Given the description of an element on the screen output the (x, y) to click on. 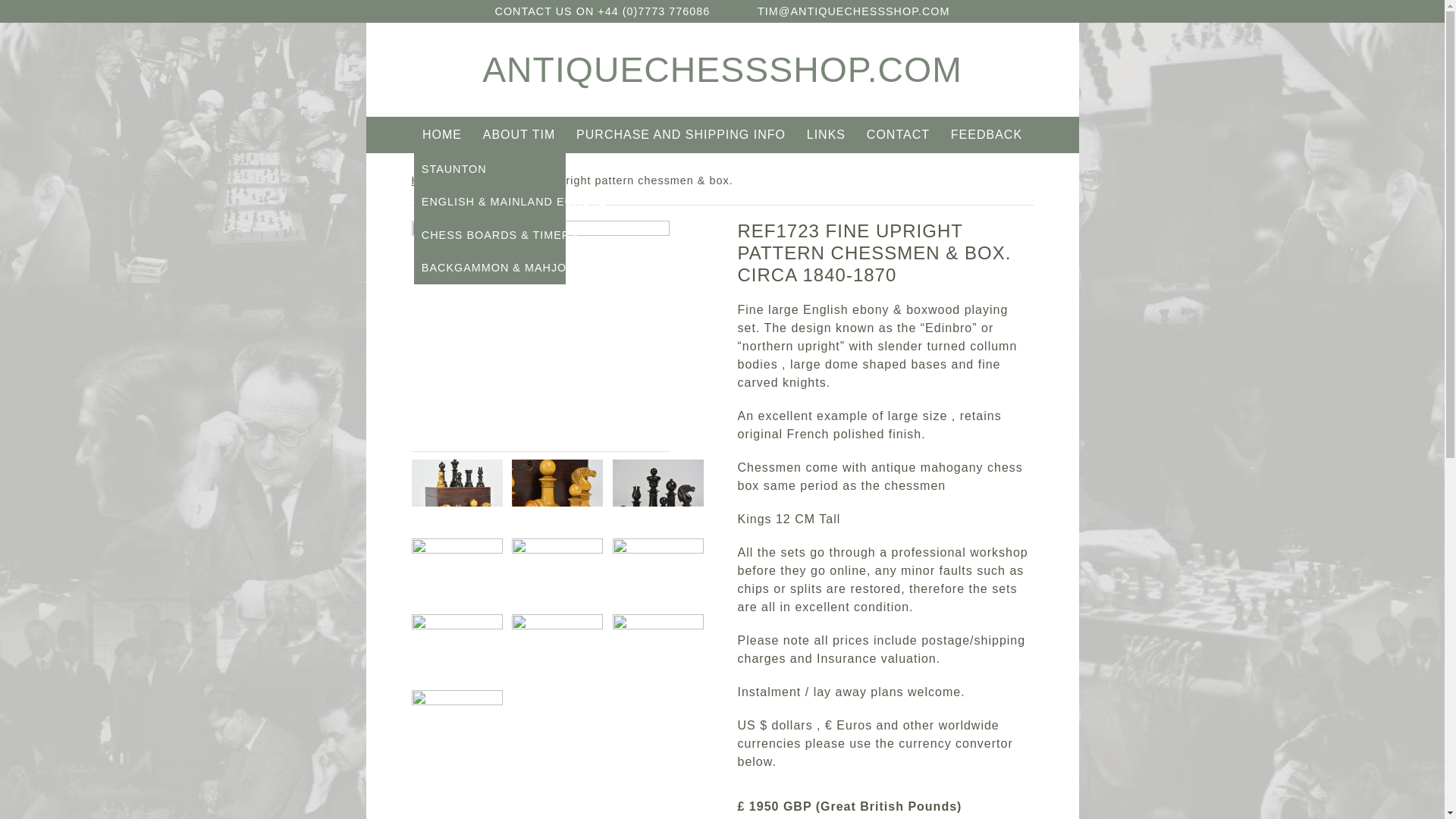
Home (426, 180)
ABOUT TIM (519, 135)
FEEDBACK (986, 135)
STAUNTON (489, 169)
ANTIQUECHESSSHOP.COM (721, 69)
CONTACT (899, 135)
LINKS (825, 135)
PURCHASE AND SHIPPING INFO (680, 135)
HOME (441, 135)
